Given the description of an element on the screen output the (x, y) to click on. 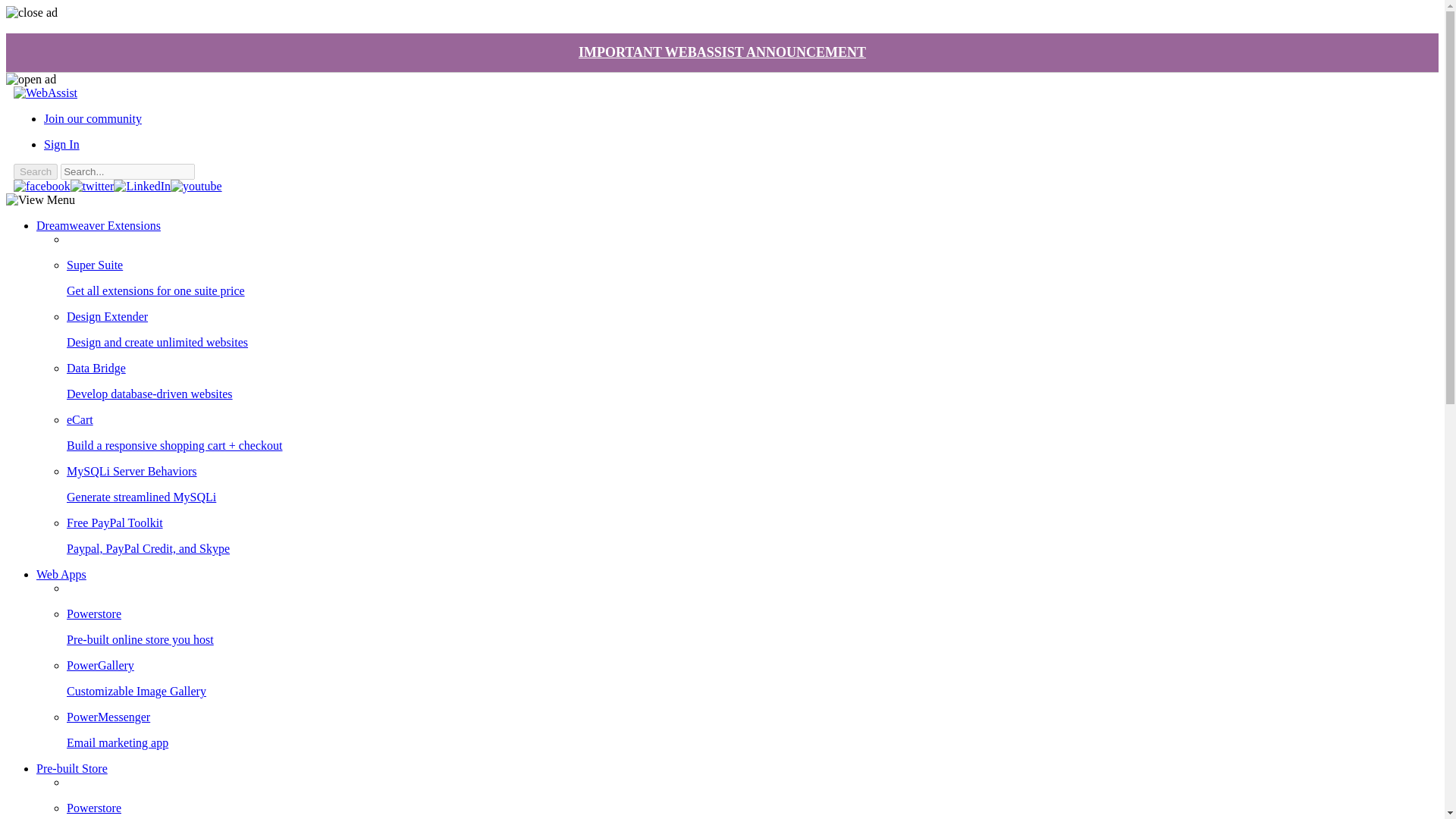
Search (35, 171)
Web Apps (60, 574)
Sign In (61, 144)
IMPORTANT WEBASSIST ANNOUNCEMENT (722, 52)
Pre-built Store (71, 768)
Dreamweaver Extensions (98, 225)
Search (35, 171)
